Given the description of an element on the screen output the (x, y) to click on. 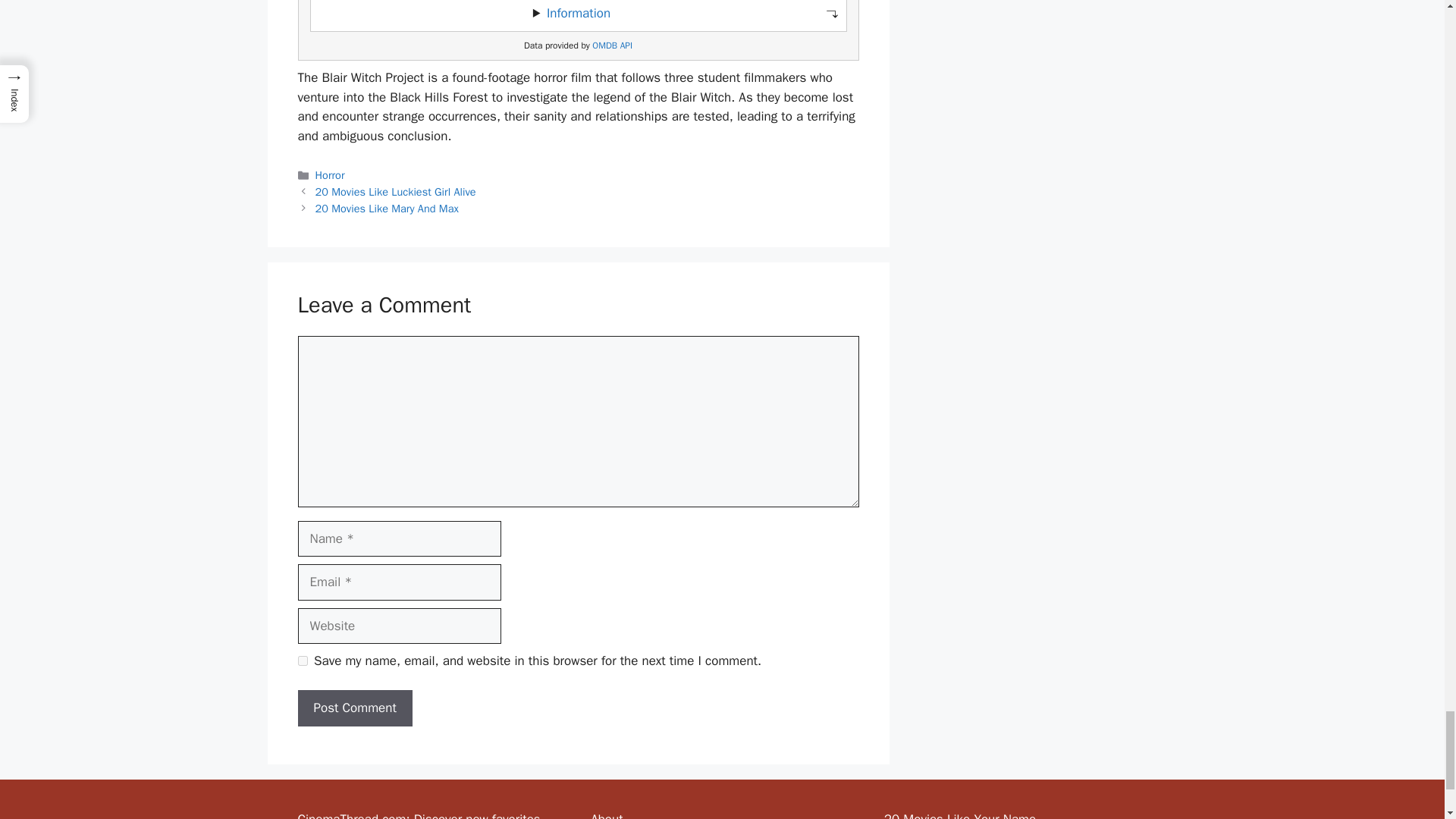
yes (302, 660)
Post Comment (354, 708)
